Given the description of an element on the screen output the (x, y) to click on. 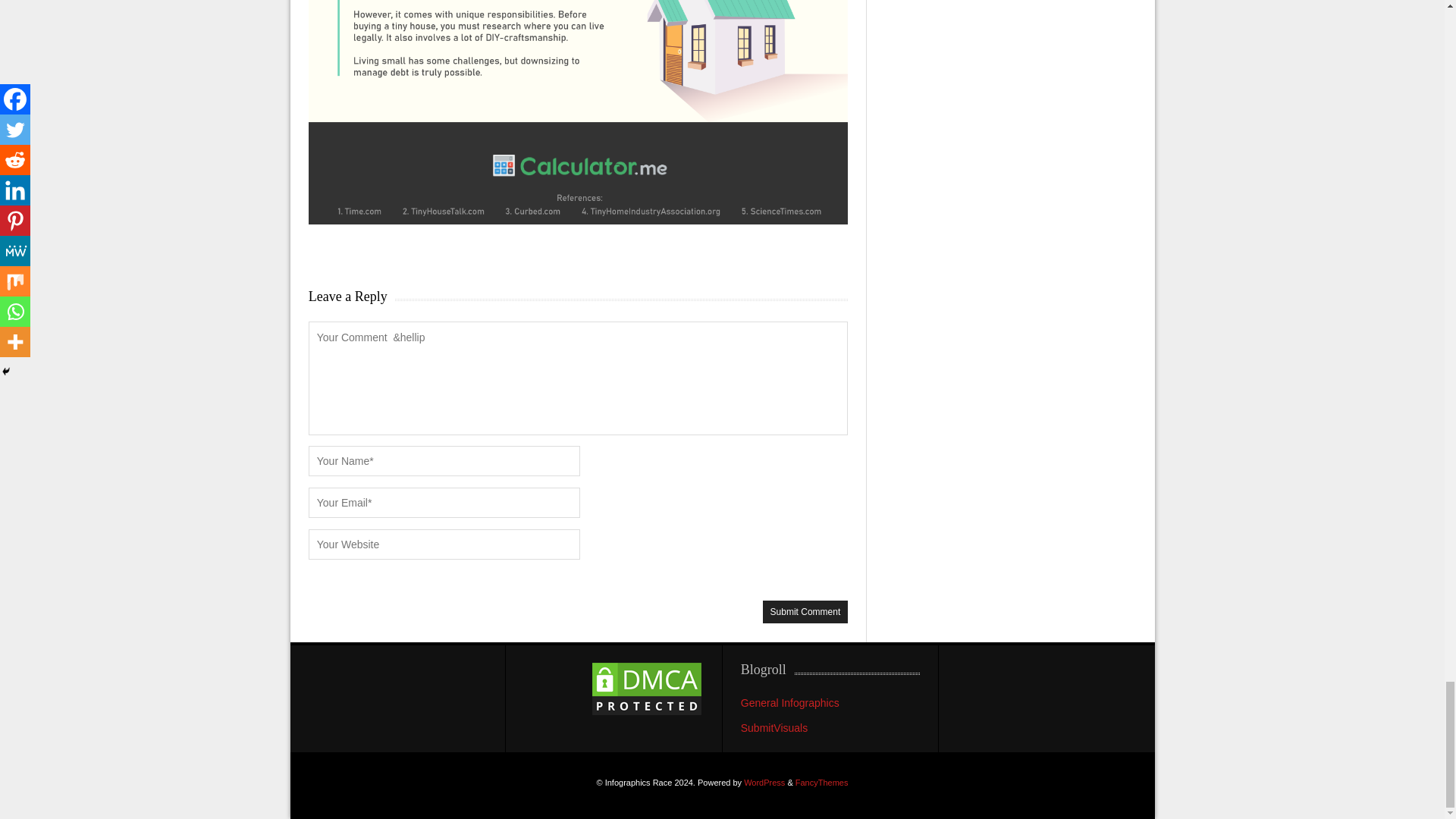
Submit Comment (805, 611)
